Given the description of an element on the screen output the (x, y) to click on. 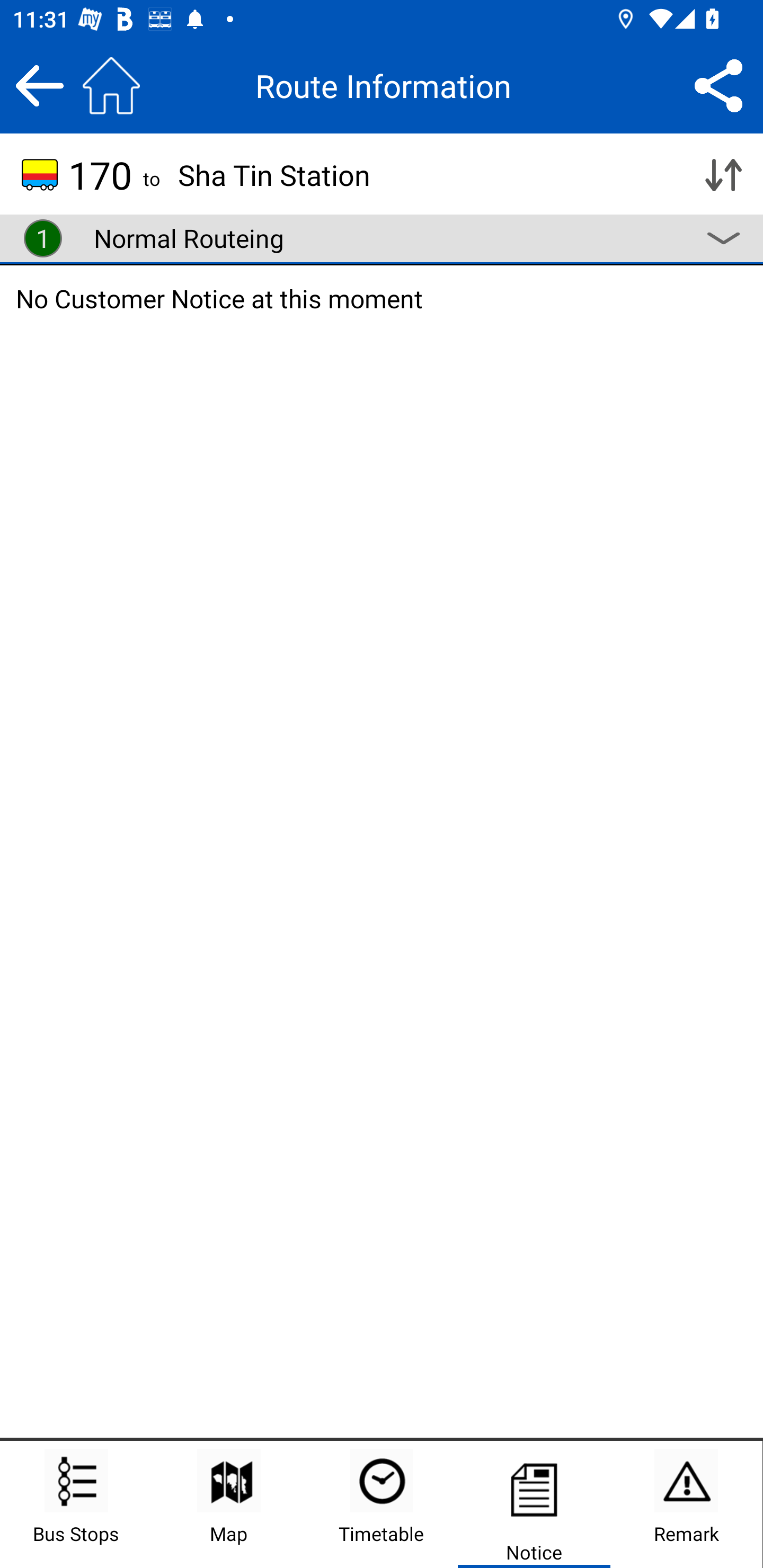
Jump to home page (111, 85)
Share point to point route search criteria) (718, 85)
Back (39, 85)
Reverse direction (723, 174)
Other routes (723, 238)
Bus Stops (76, 1504)
Map (228, 1504)
Timetable (381, 1504)
Notice (533, 1504)
Remark (686, 1504)
